Given the description of an element on the screen output the (x, y) to click on. 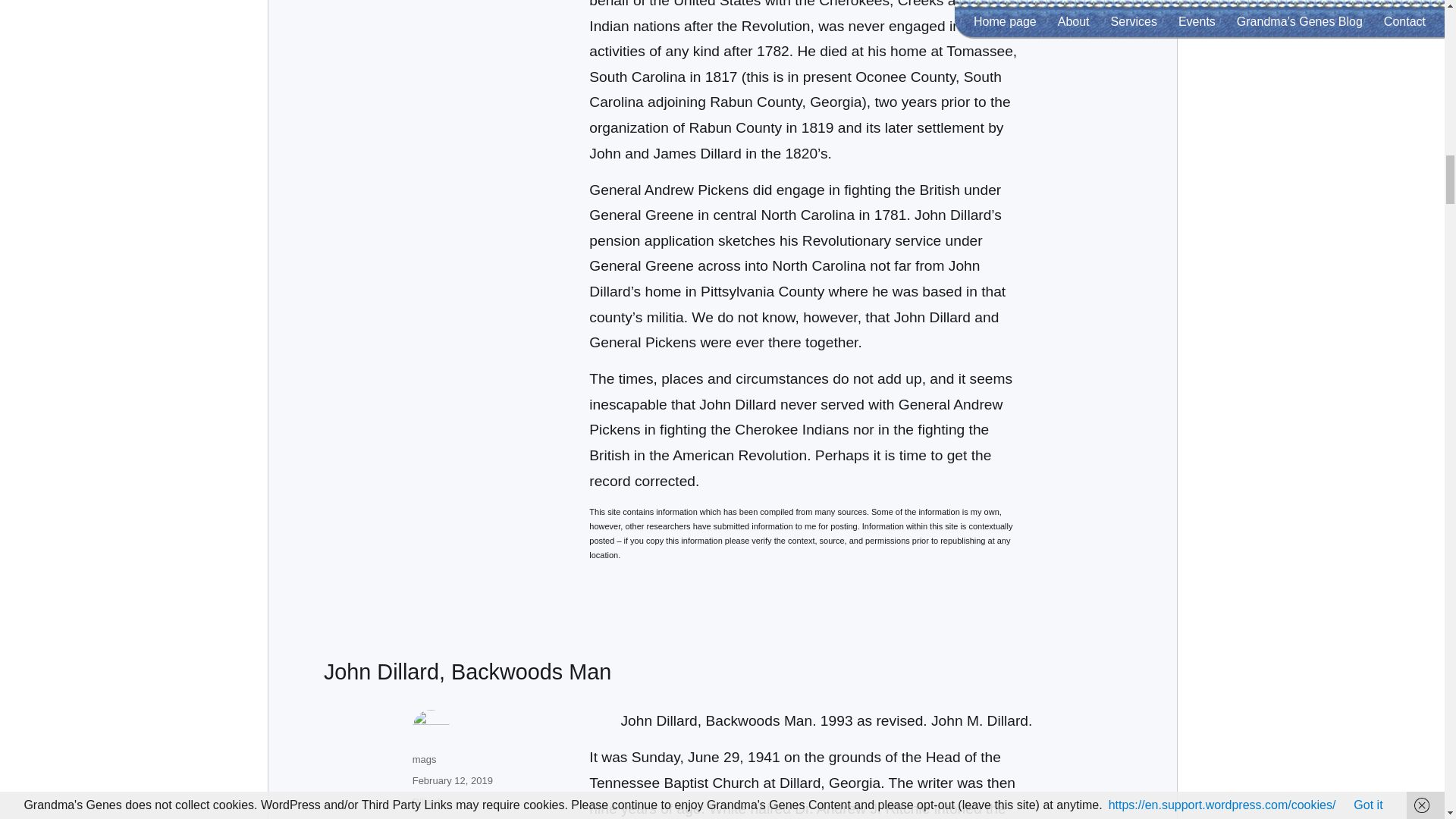
John dillard (511, 818)
Georgia (462, 818)
February 12, 2019 (452, 780)
Dillard (426, 801)
John Dillard, Backwoods Man (467, 671)
mags (424, 758)
Dillard (426, 818)
